Given the description of an element on the screen output the (x, y) to click on. 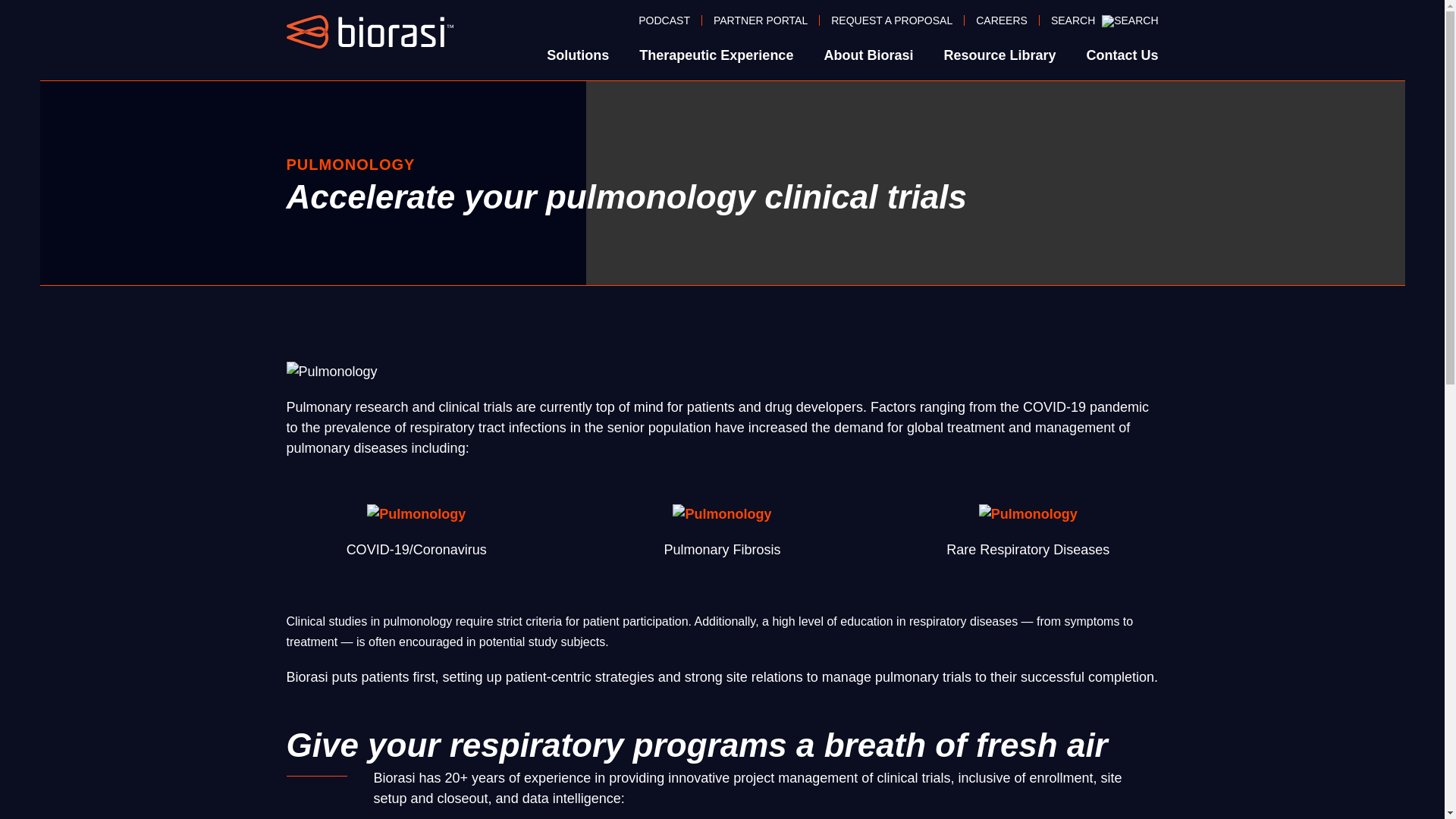
PODCAST (664, 20)
CAREERS (1001, 20)
PARTNER PORTAL (760, 20)
REQUEST A PROPOSAL (891, 20)
